Given the description of an element on the screen output the (x, y) to click on. 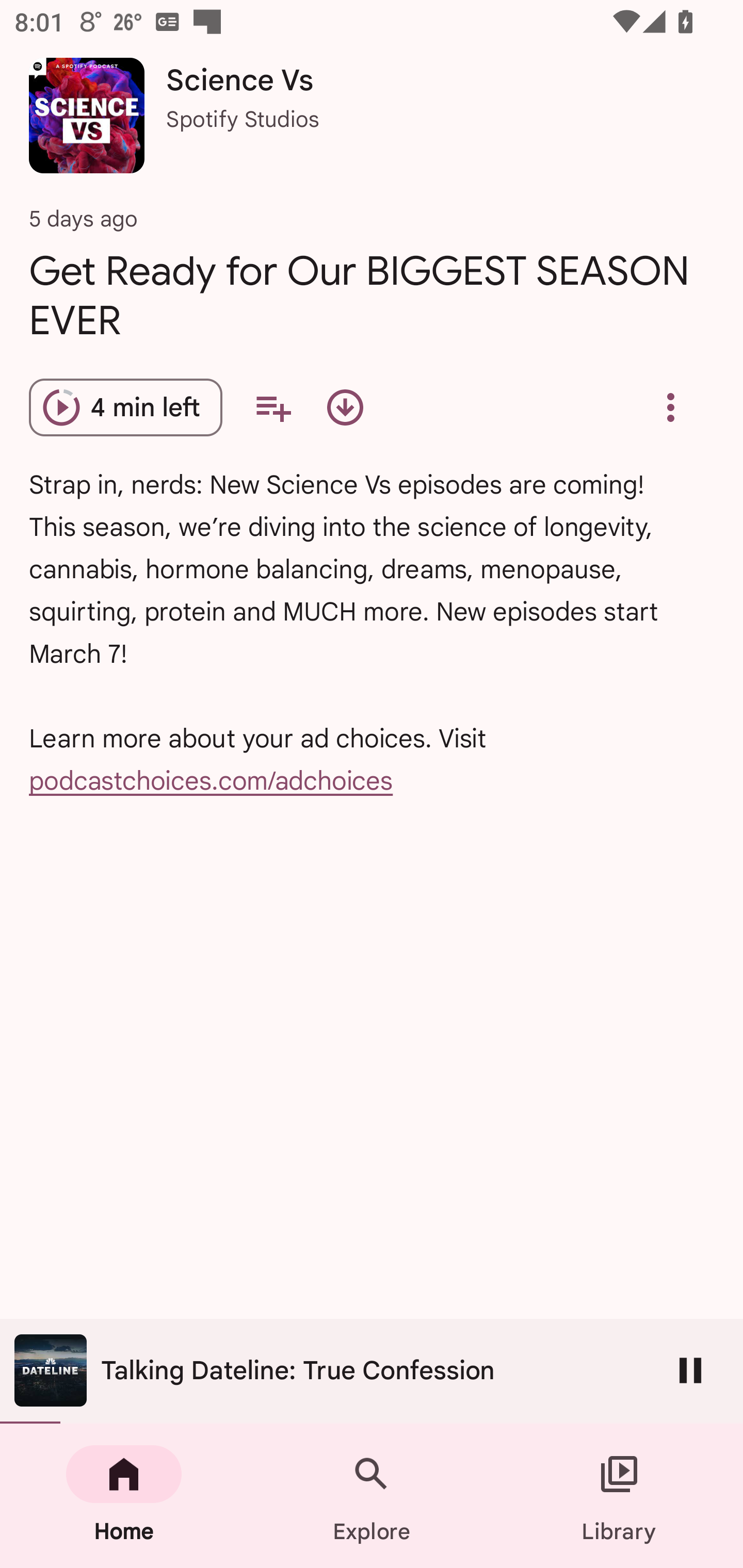
Science Vs Science Vs Spotify Studios (371, 122)
Add to your queue (273, 407)
Download episode (345, 407)
Overflow menu (670, 407)
Pause (690, 1370)
Explore (371, 1495)
Library (619, 1495)
